Given the description of an element on the screen output the (x, y) to click on. 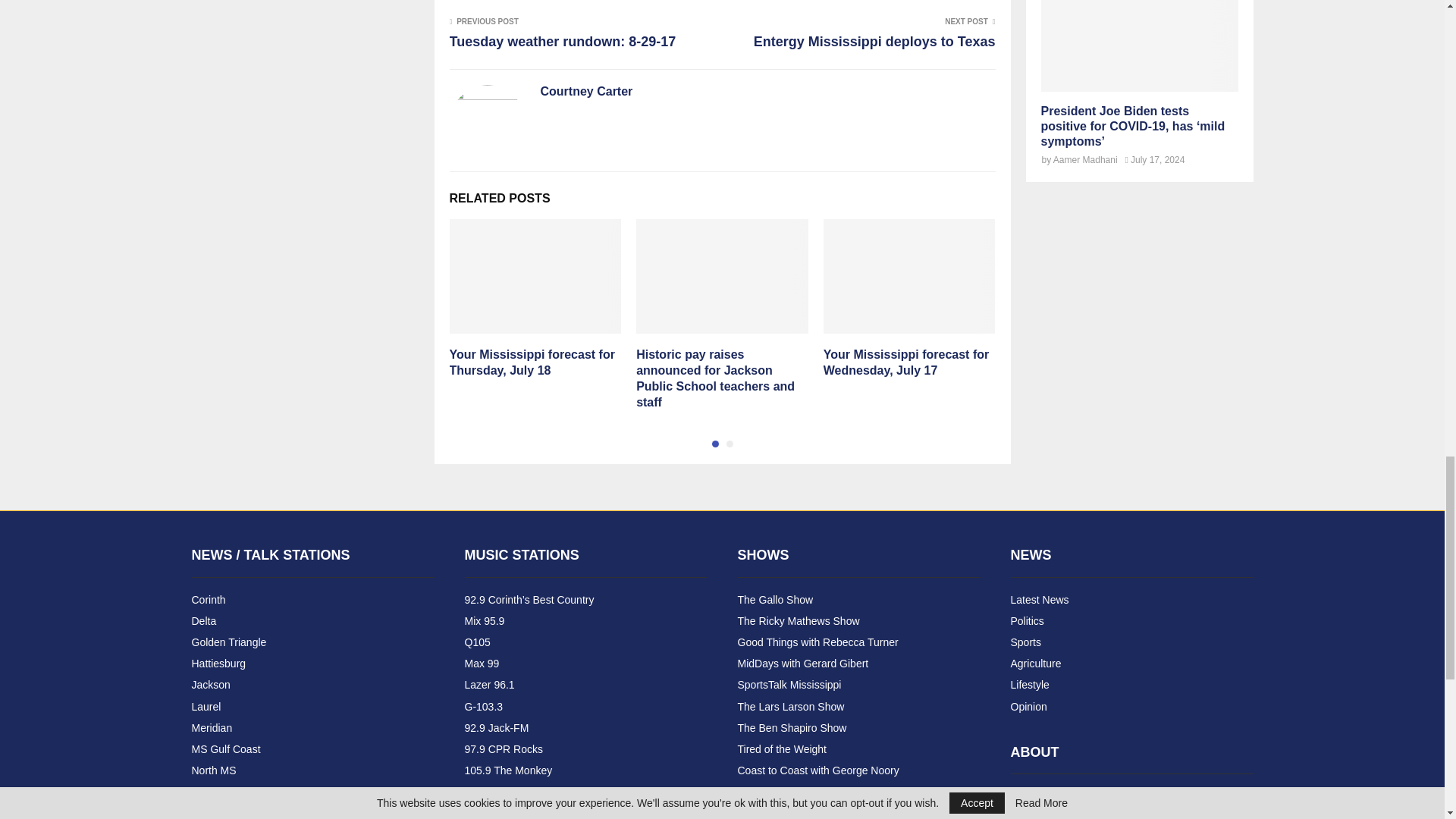
Posts by Courtney Carter (585, 91)
